Given the description of an element on the screen output the (x, y) to click on. 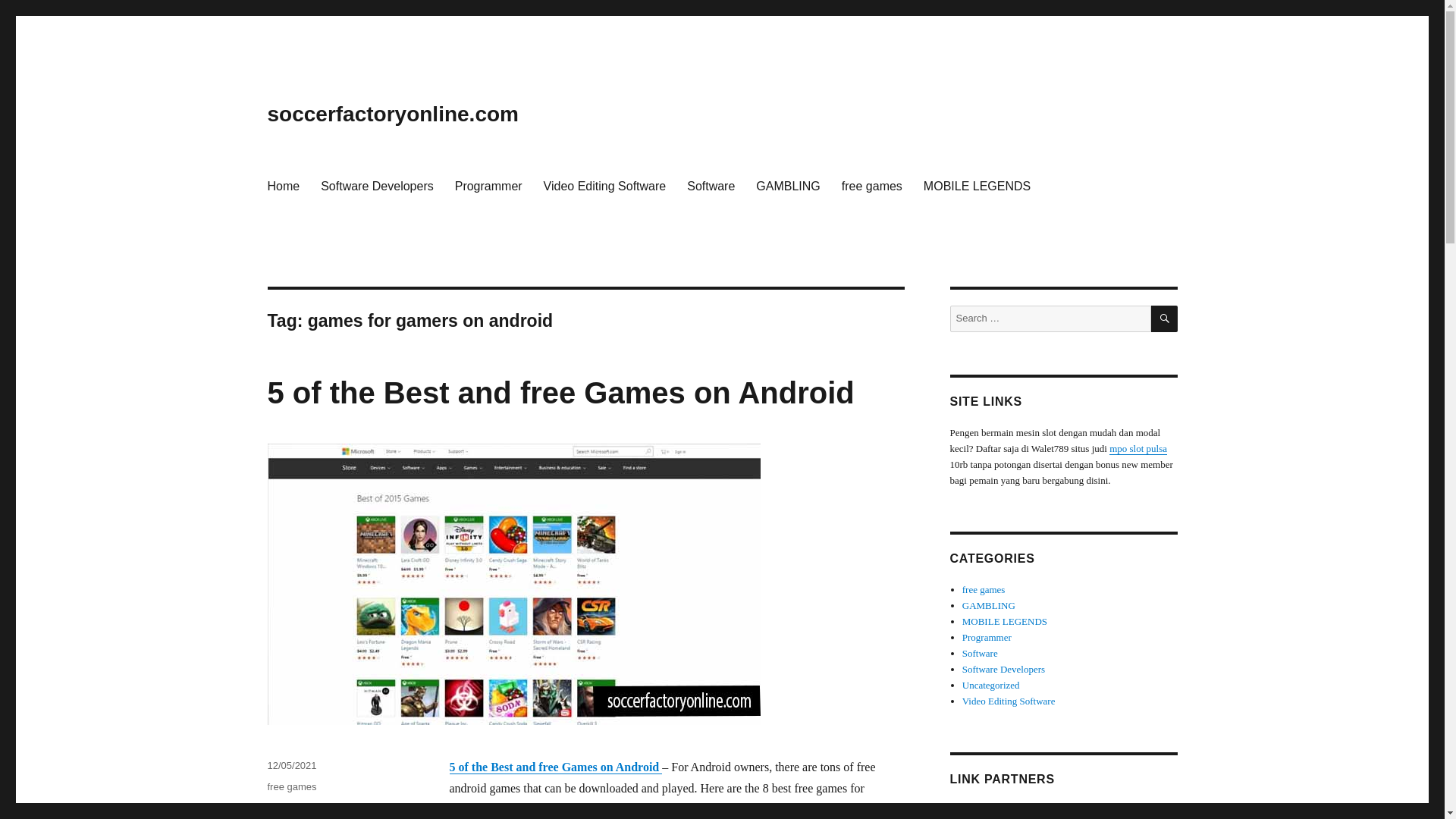
GAMBLING (787, 185)
Home (283, 185)
Programmer (986, 636)
5 of the Best and free Games on Android (331, 810)
Uncategorized (991, 685)
Software (711, 185)
5 of the Best and free Games on Android (555, 766)
Video Editing Software (1008, 700)
Software (979, 653)
free games (984, 589)
Video Editing Software (604, 185)
soccerfactoryonline.com (392, 114)
SEARCH (1164, 318)
GAMBLING (988, 604)
